Given the description of an element on the screen output the (x, y) to click on. 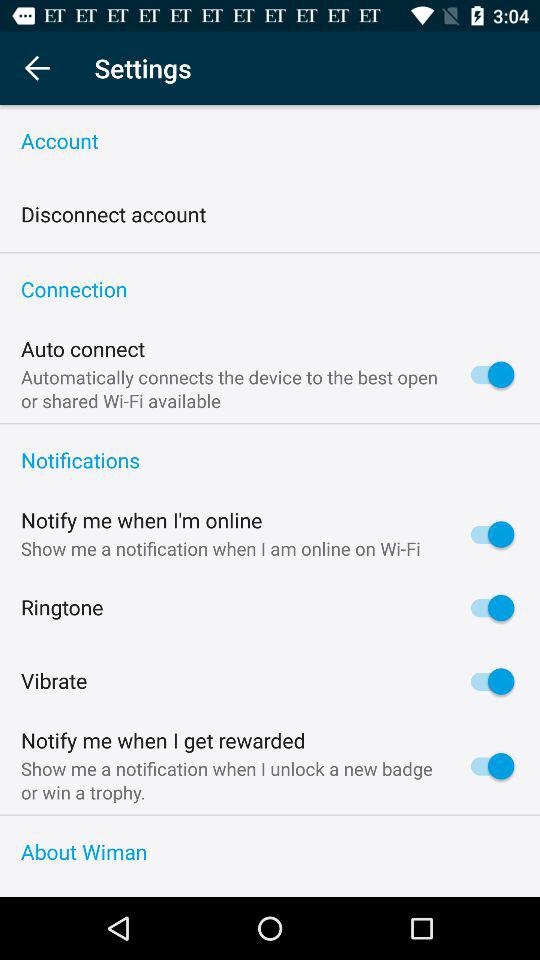
choose the automatically connects the icon (233, 389)
